Given the description of an element on the screen output the (x, y) to click on. 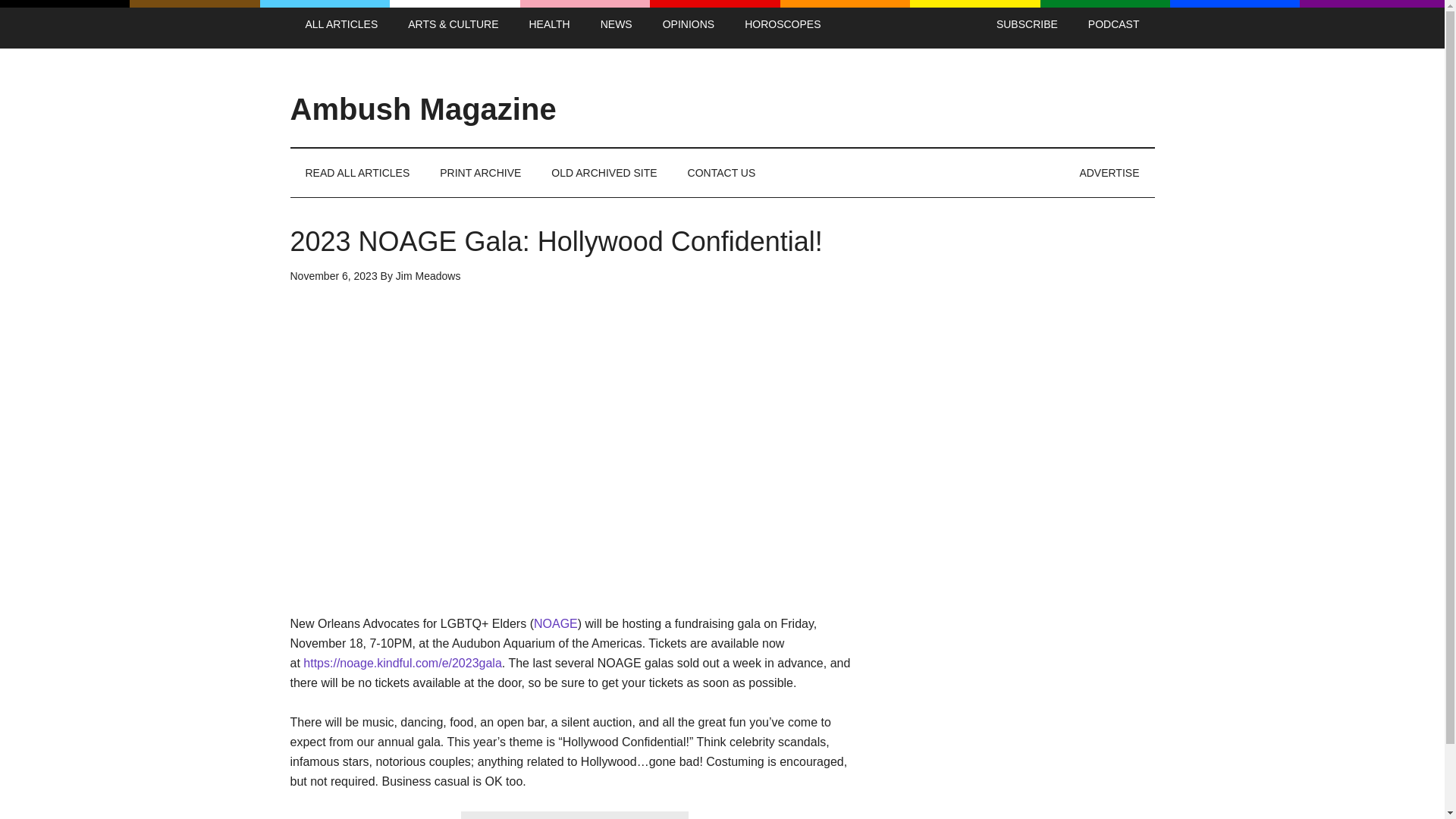
HEALTH (549, 24)
PODCAST (1113, 24)
CONTACT US (721, 172)
NOAGE (556, 623)
SUBSCRIBE (1027, 24)
ADVERTISE (1109, 172)
HOROSCOPES (782, 24)
Jim Meadows (428, 275)
READ ALL ARTICLES (357, 172)
NEWS (616, 24)
PRINT ARCHIVE (480, 172)
OPINIONS (688, 24)
Ambush Magazine (422, 109)
OLD ARCHIVED SITE (603, 172)
